Given the description of an element on the screen output the (x, y) to click on. 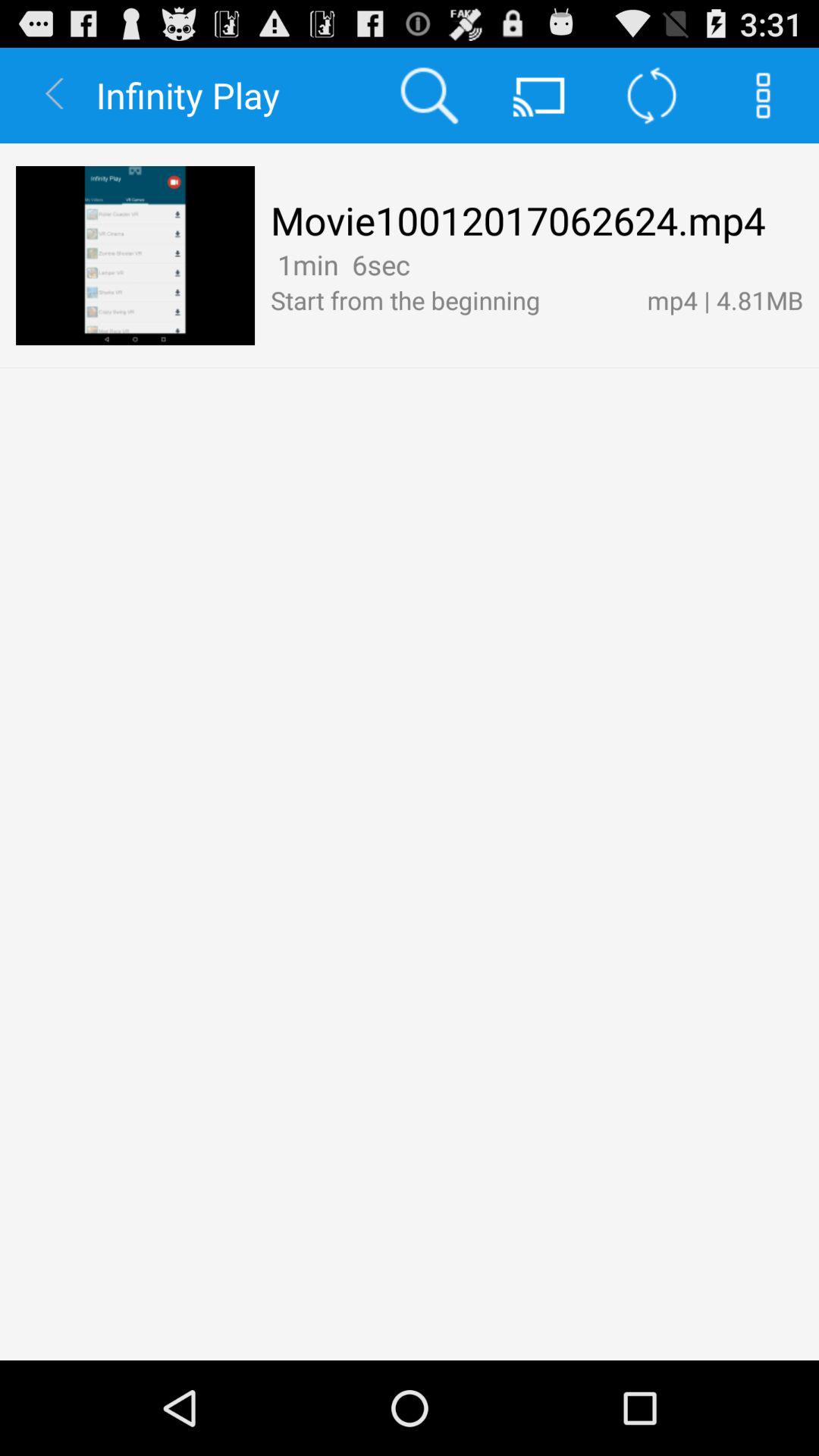
click the app to the left of mp4 | 4.81mb icon (421, 264)
